Given the description of an element on the screen output the (x, y) to click on. 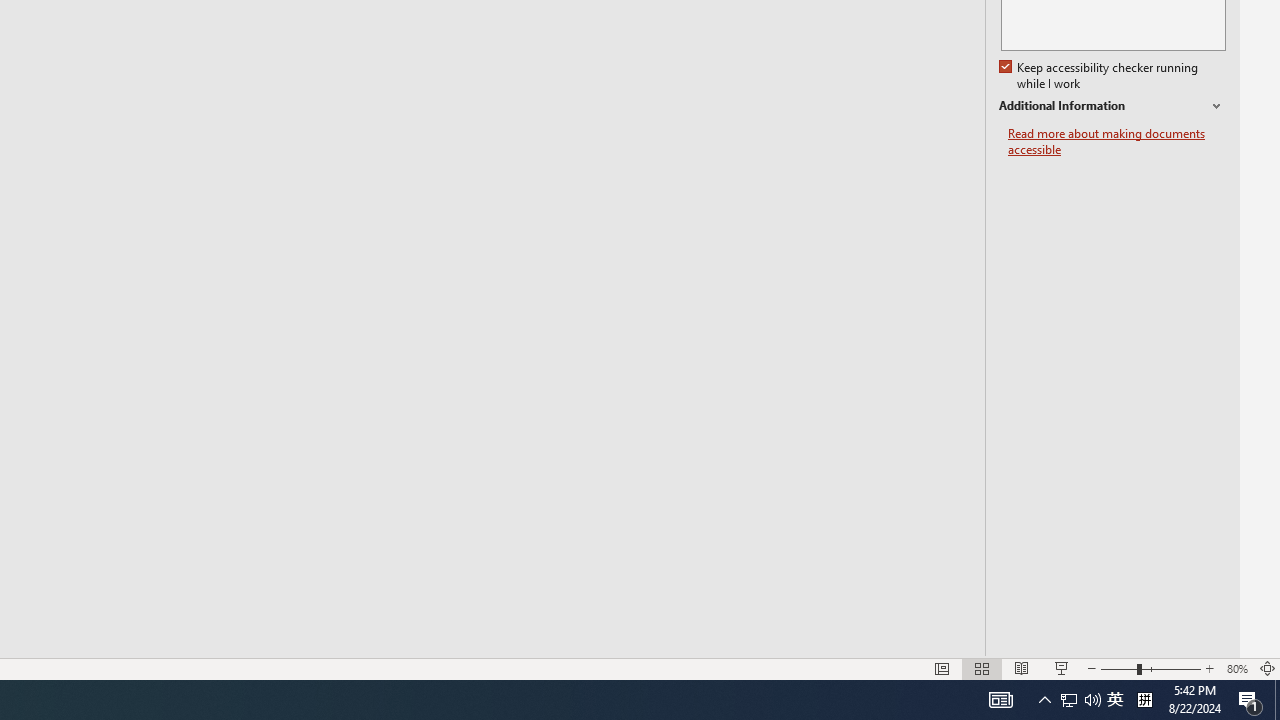
Zoom 80% (1236, 668)
Read more about making documents accessible (1117, 142)
